Given the description of an element on the screen output the (x, y) to click on. 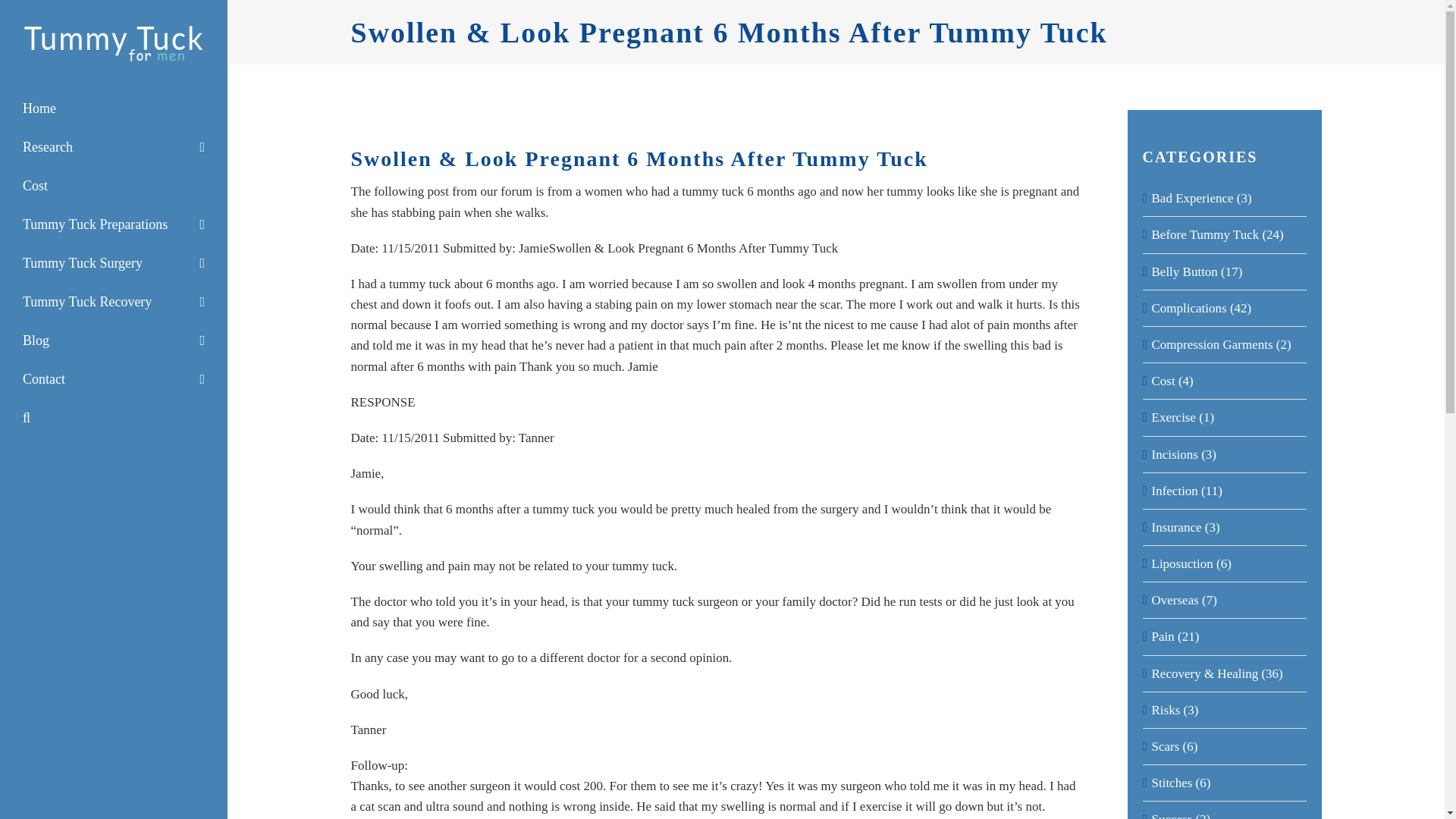
Tummy Tuck Preparations (113, 224)
Tummy Tuck Surgery (113, 263)
Search (113, 417)
Tummy Tuck Recovery (113, 301)
Home (113, 107)
Research (113, 147)
Cost (113, 186)
